Given the description of an element on the screen output the (x, y) to click on. 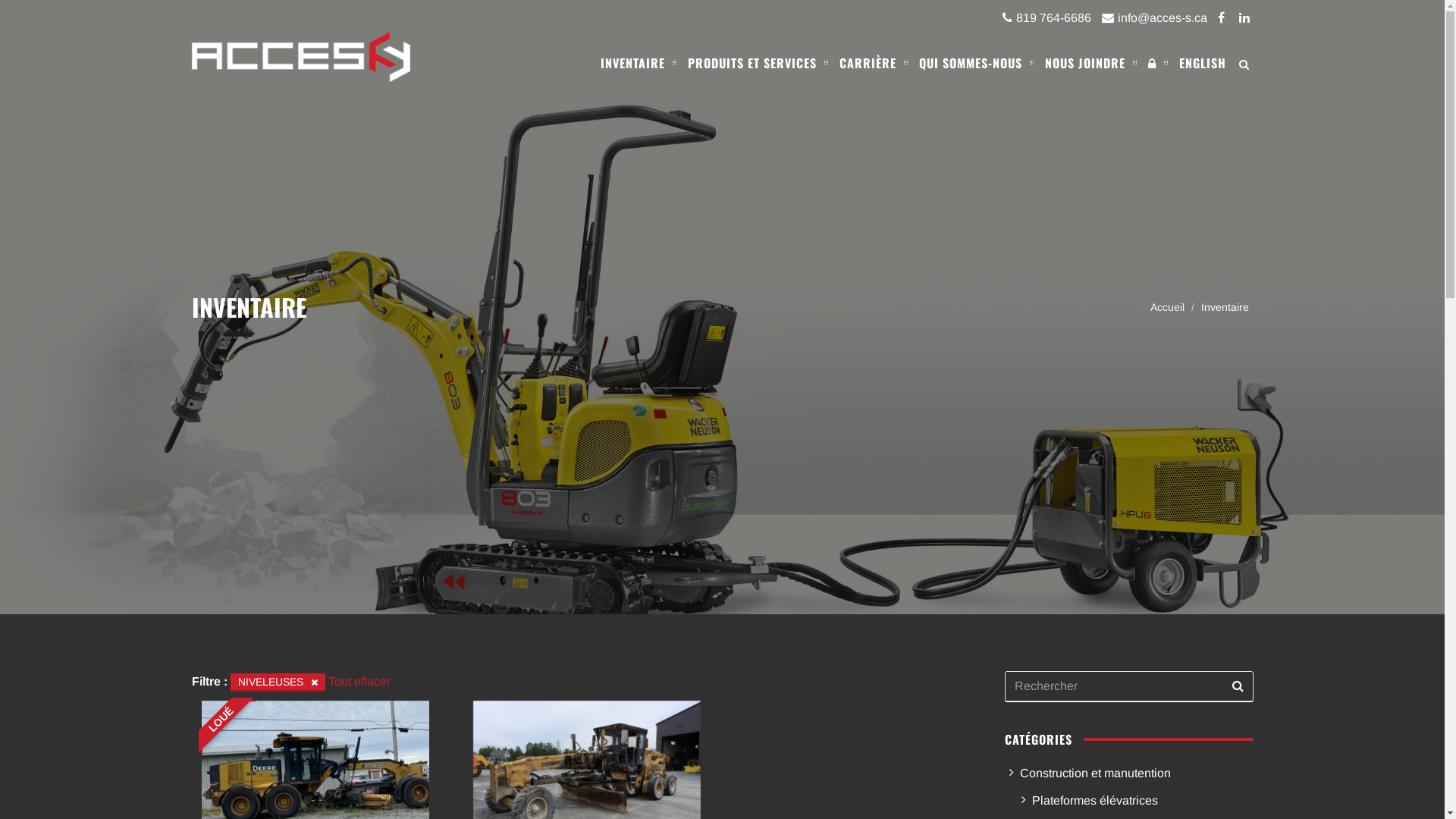
info@acces-s.ca Element type: text (1149, 17)
819 764-6686 Element type: text (1042, 17)
Tout effacer Element type: text (358, 680)
NOUS JOINDRE Element type: text (1083, 62)
Accueil Element type: text (1166, 307)
ENGLISH Element type: text (1196, 62)
QUI SOMMES-NOUS Element type: text (969, 62)
Construction et manutention Element type: text (1128, 773)
INVENTAIRE Element type: text (631, 62)
PRODUITS ET SERVICES Element type: text (752, 62)
NIVELEUSES Element type: text (277, 682)
